Given the description of an element on the screen output the (x, y) to click on. 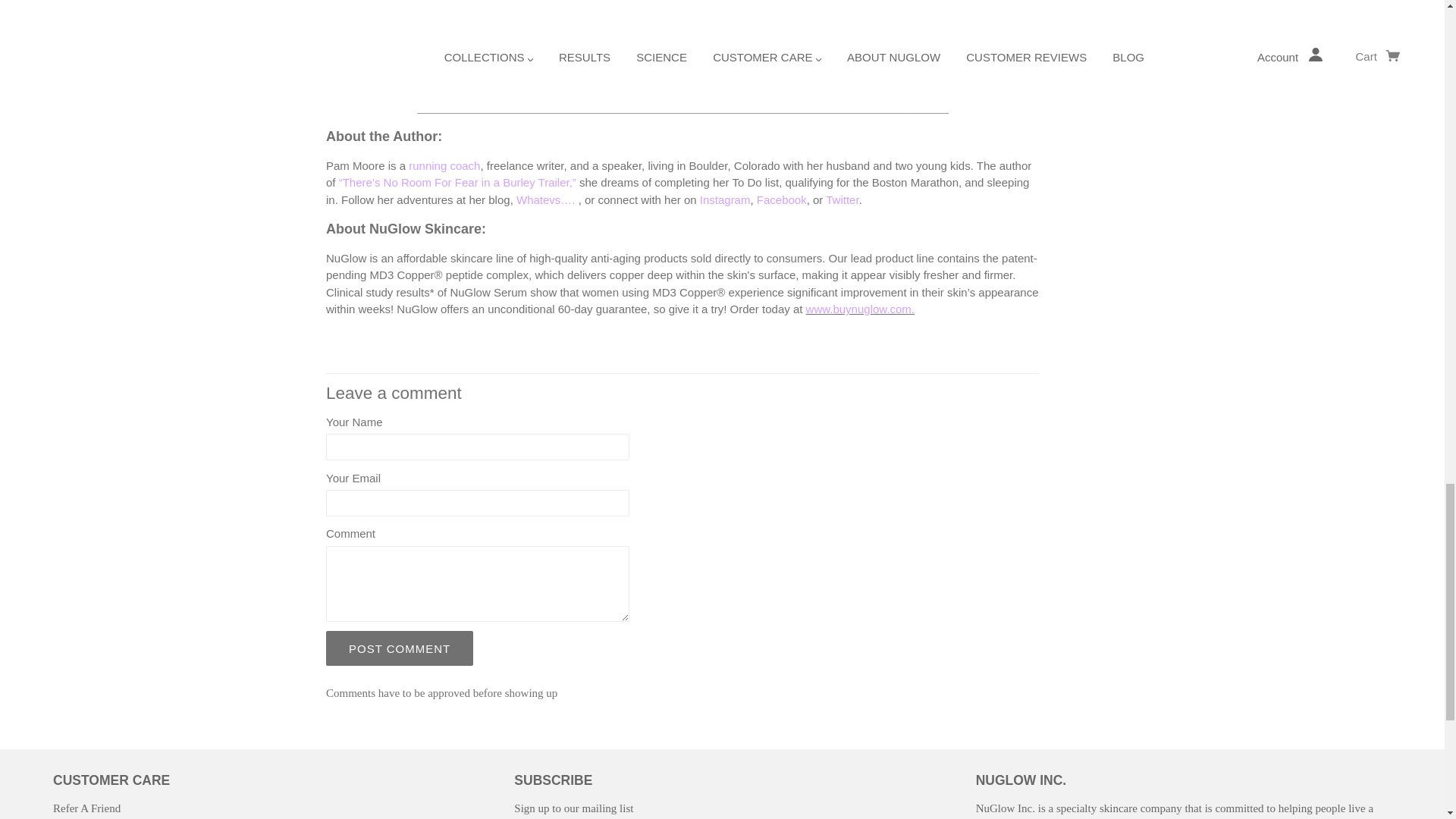
Pam Moore (547, 199)
NuGlow Contributing Writer Pam Moore Instagram (725, 199)
NuGlow Contributing Writer Pam Moore Twitter (842, 199)
Buy NuGlow Skincare now! (860, 308)
Post Comment (399, 647)
NuGlow Contributing Writer Pam Moore (444, 164)
There's No Room for Fear in a Burley Trailer (457, 182)
NuGlow Contributing Writer Pam Moore Facebook (781, 199)
